Given the description of an element on the screen output the (x, y) to click on. 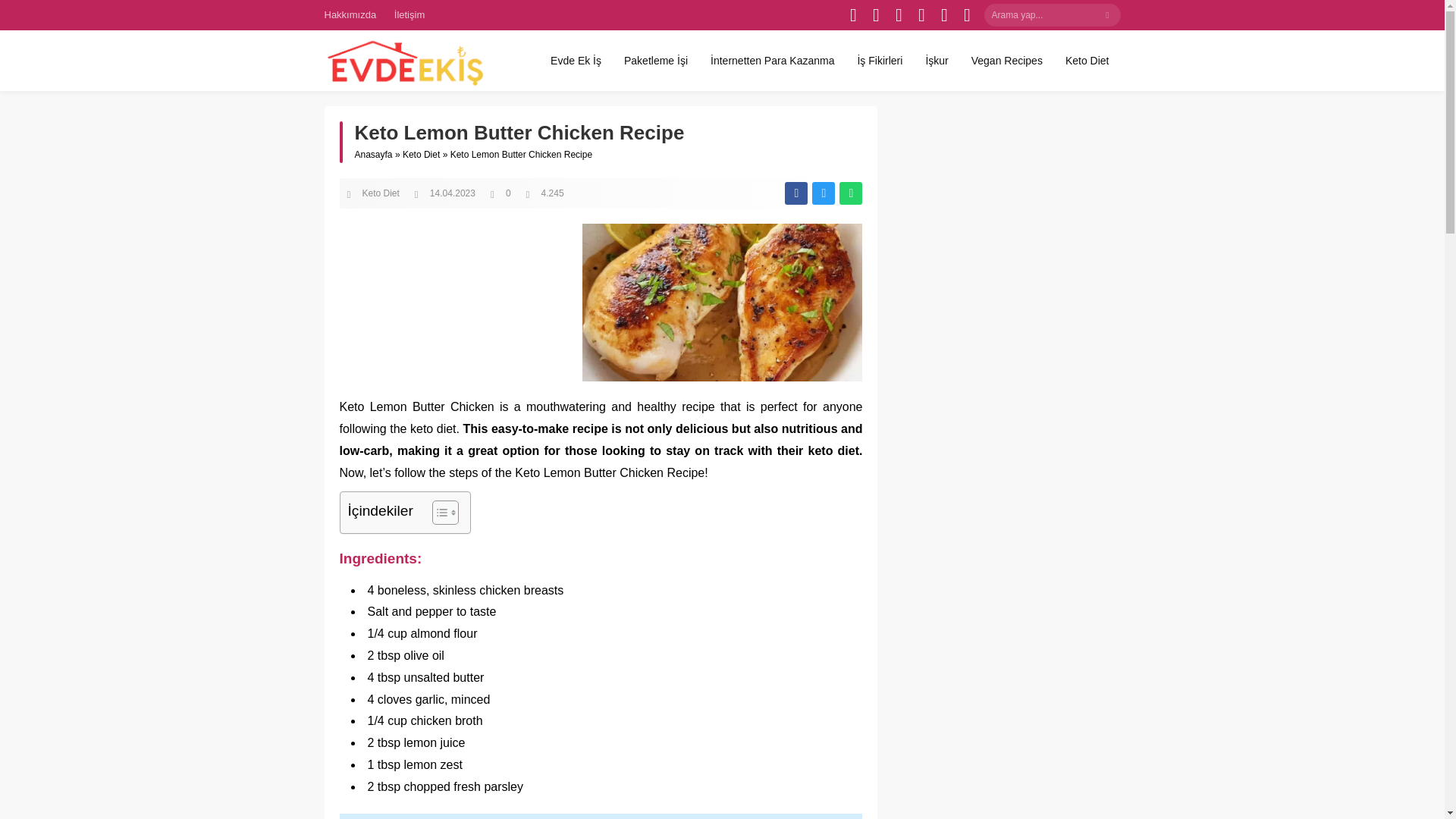
Evdeekis.com - Anasayfa (403, 60)
Tumblr (944, 14)
Pinterest (921, 14)
Keto Diet (421, 154)
Rss (967, 14)
Anasayfa (374, 154)
Vegan Recipes (1006, 60)
Arama yap... (1052, 15)
Keto Diet (1087, 60)
Instagram (898, 14)
Keto Diet (380, 193)
Facebook (853, 14)
Twitter (876, 14)
